Given the description of an element on the screen output the (x, y) to click on. 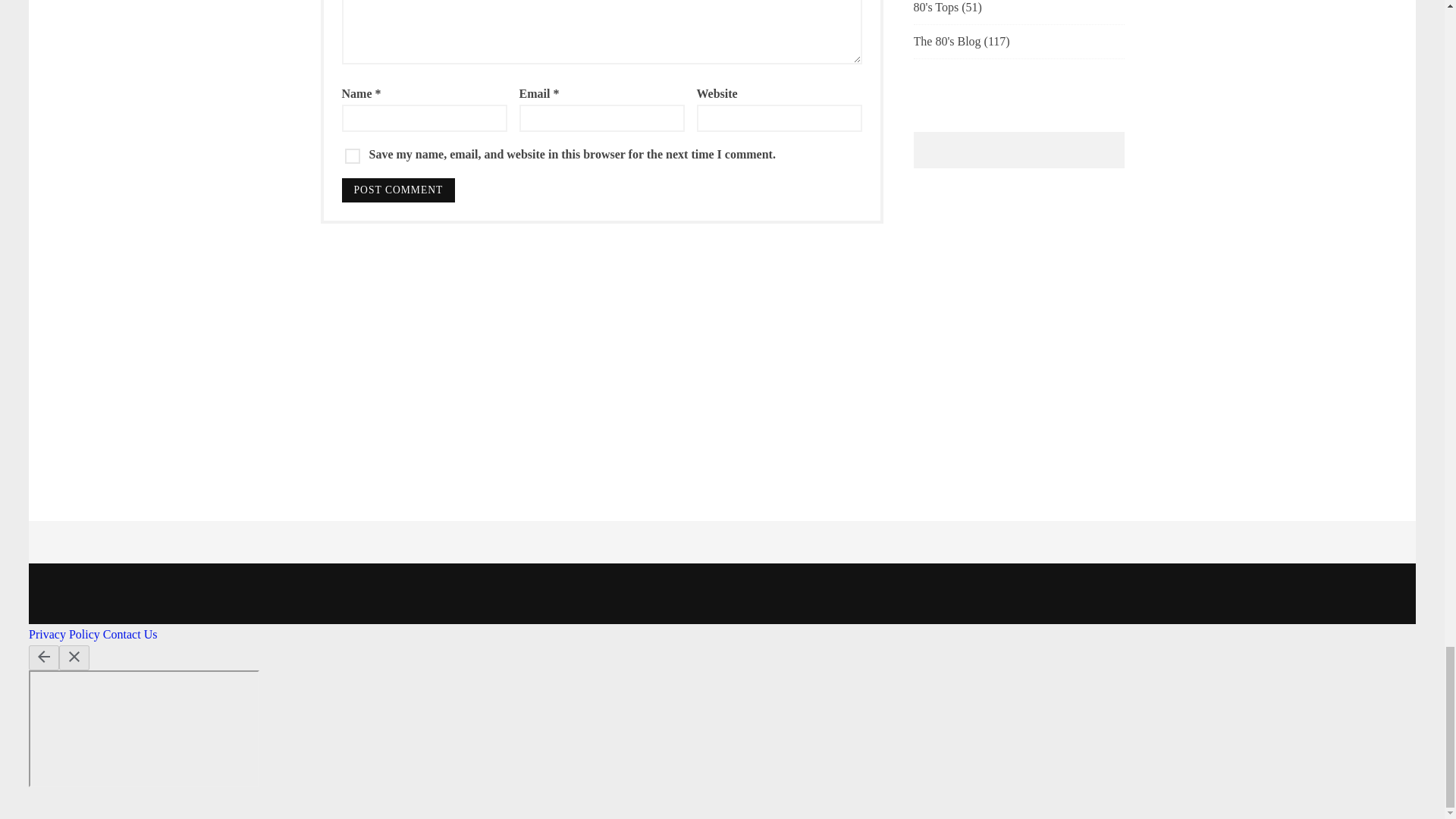
yes (351, 155)
Post Comment (397, 190)
Post Comment (397, 190)
